Given the description of an element on the screen output the (x, y) to click on. 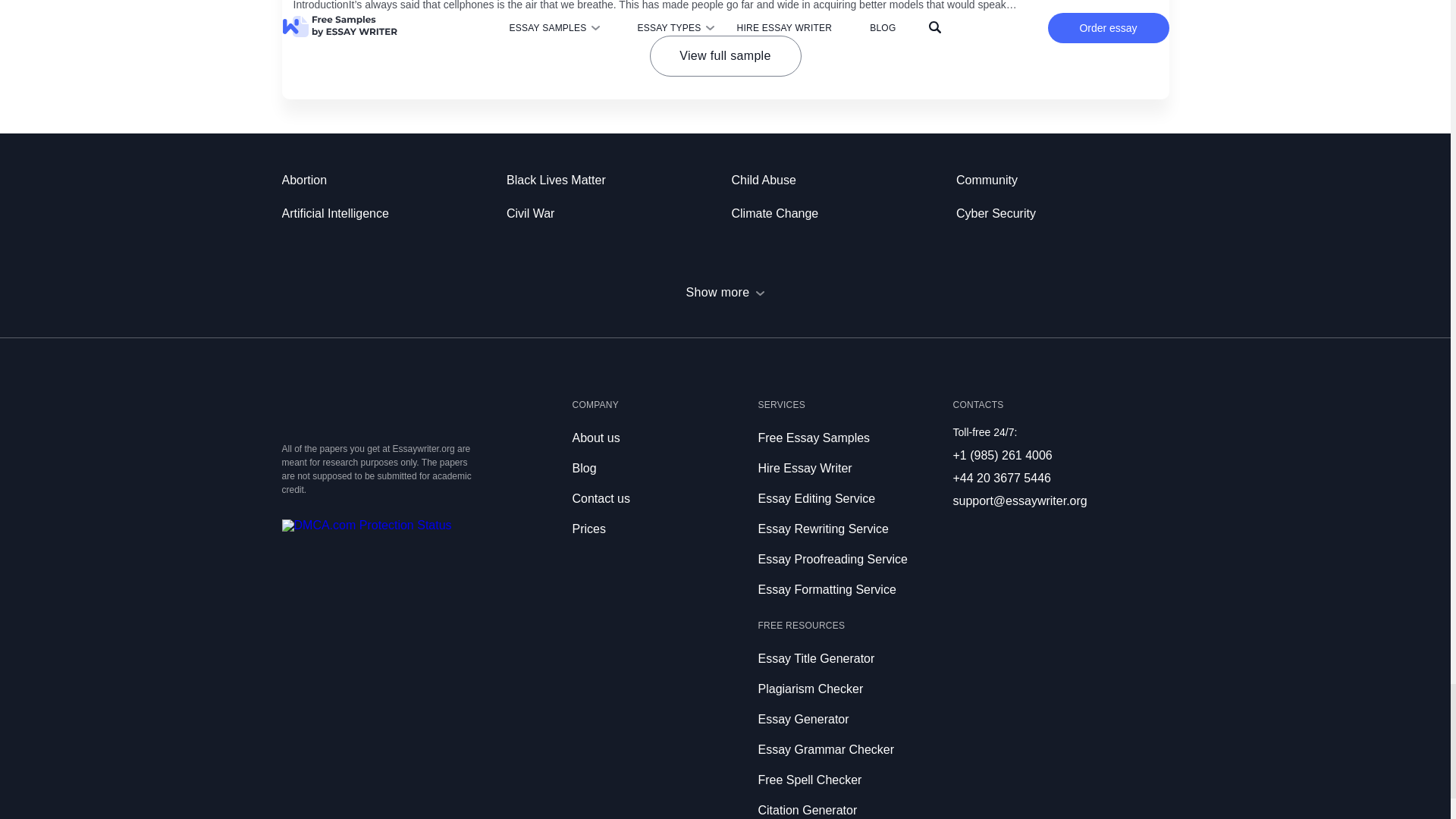
DMCA.com Protection Status (366, 524)
